Given the description of an element on the screen output the (x, y) to click on. 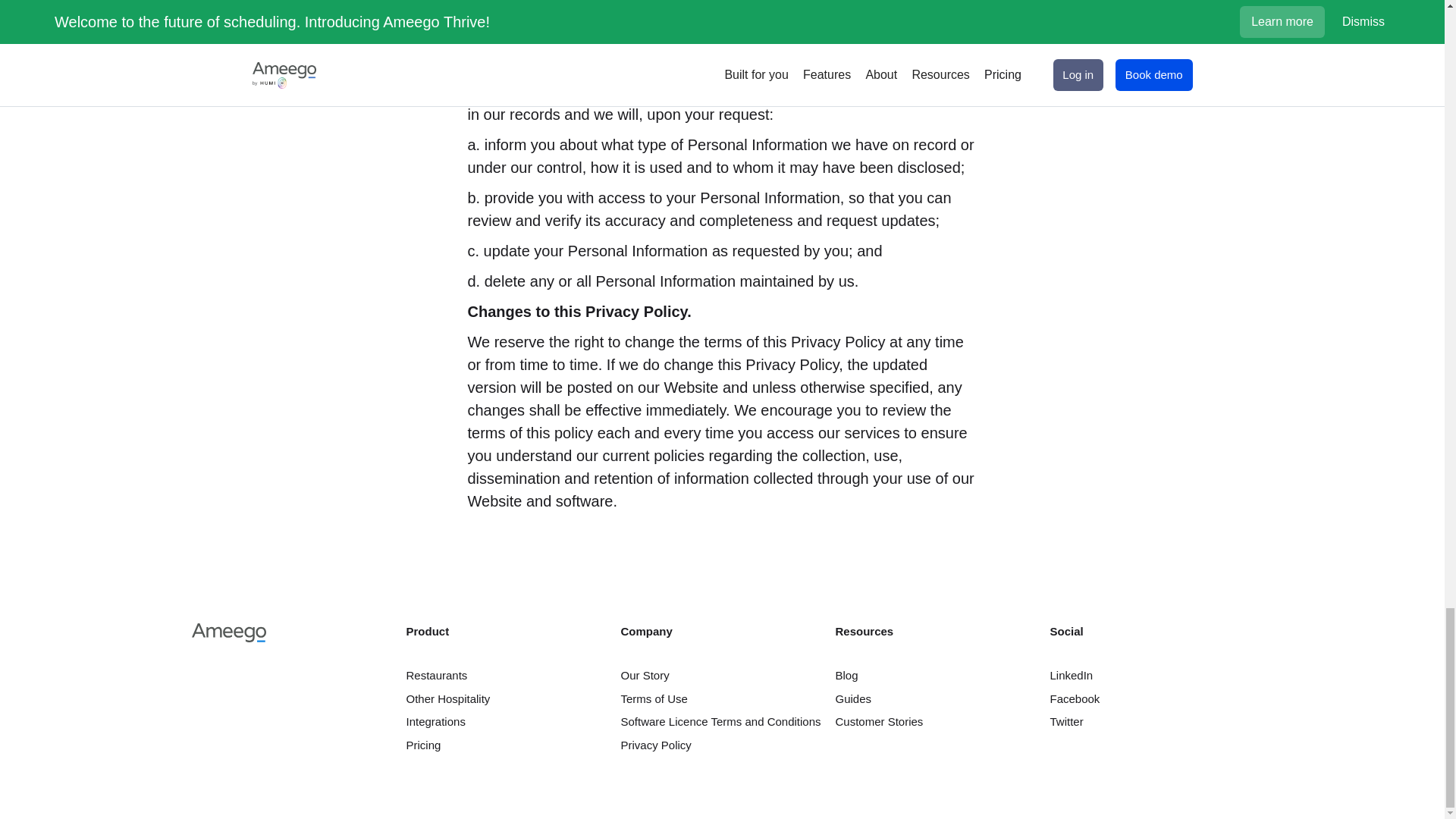
Integrations (508, 721)
Terms of Use (722, 699)
Pricing (508, 745)
Our Story (722, 675)
Restaurants (508, 675)
Blog (937, 675)
LinkedIn (1150, 675)
Privacy Policy (722, 745)
Twitter (1150, 721)
Facebook (1150, 699)
Software Licence Terms and Conditions (722, 721)
Guides (937, 699)
Other Hospitality (508, 699)
Customer Stories (937, 721)
